Given the description of an element on the screen output the (x, y) to click on. 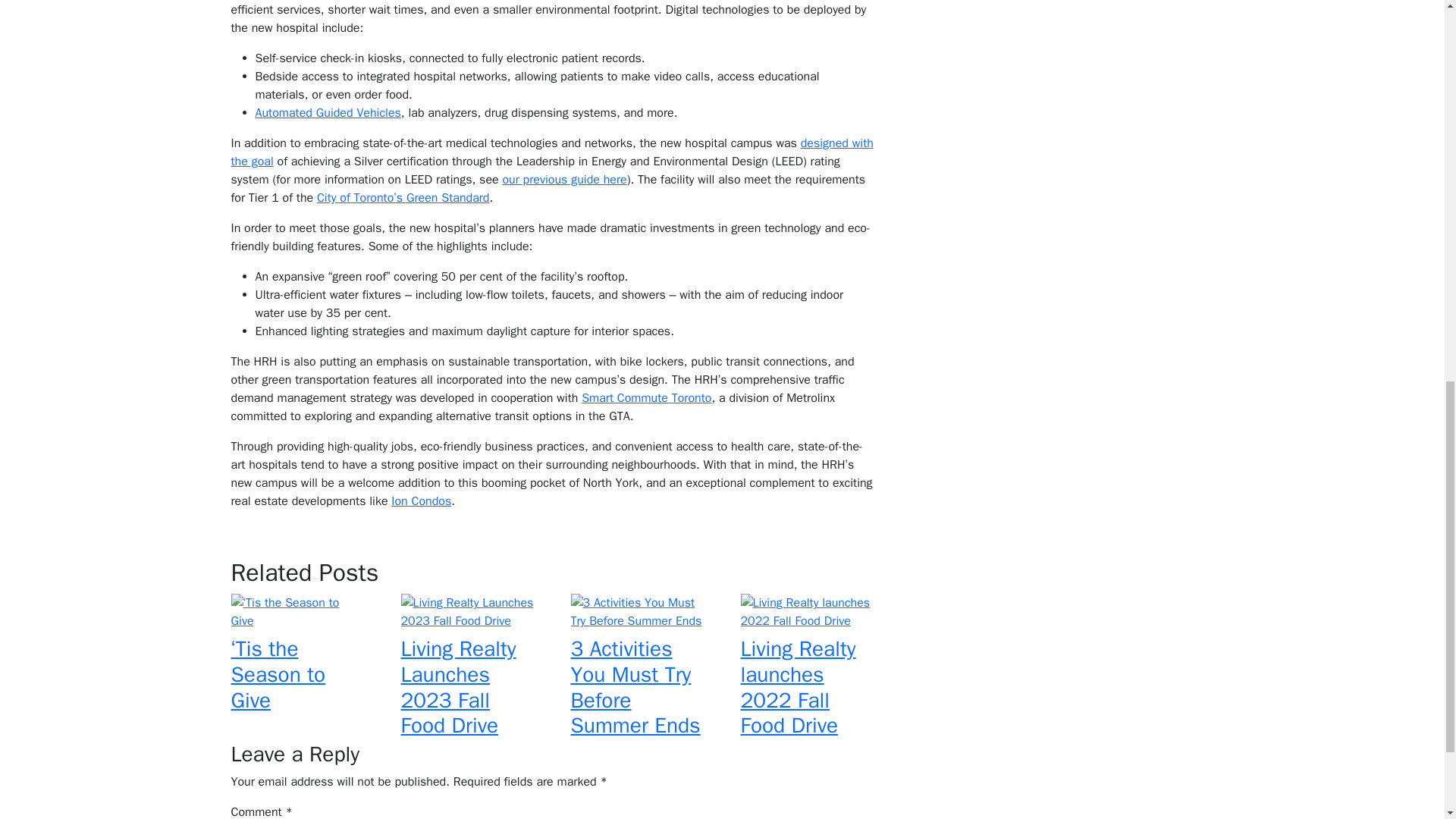
3 Activities You Must Try Before Summer Ends (635, 686)
Ion Condos (421, 500)
Living Realty launches 2022 Fall Food Drive (797, 686)
Smart Commute Toronto (645, 397)
Living Realty Launches 2023 Fall Food Drive (457, 686)
designed with the goal (551, 151)
Automated Guided Vehicles (327, 112)
our previous guide here (564, 179)
